Given the description of an element on the screen output the (x, y) to click on. 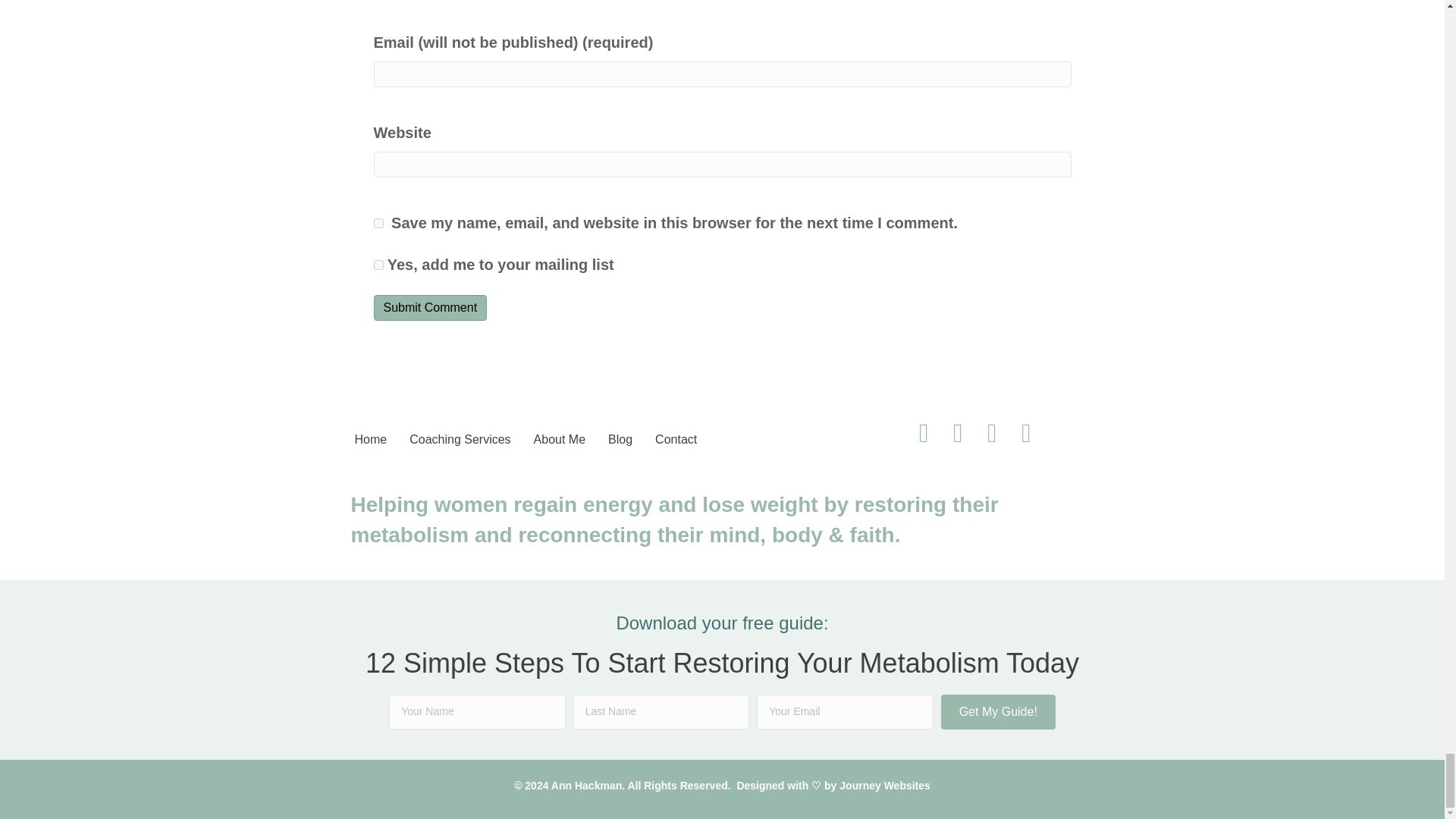
Click Here (997, 711)
Contact (675, 439)
About Me (558, 439)
1 (377, 265)
Coaching Services (459, 439)
yes (377, 223)
Get My Guide! (997, 711)
Submit Comment (429, 307)
Home (370, 439)
Submit Comment (429, 307)
